Given the description of an element on the screen output the (x, y) to click on. 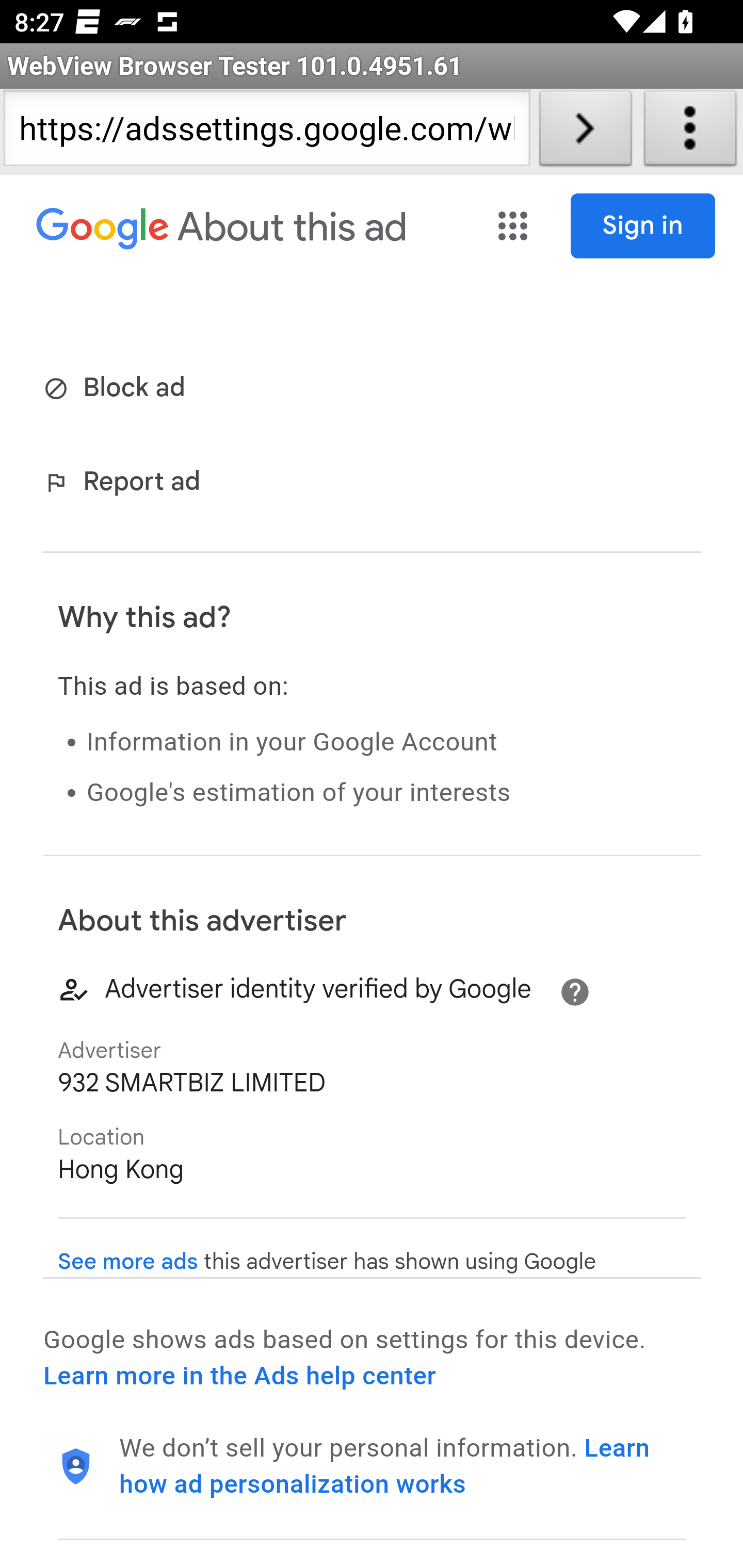
https://adssettings.google.com/whythisad (266, 132)
Load URL (585, 132)
About WebView (690, 132)
Google apps (513, 226)
Sign in (643, 226)
Block ad (117, 388)
Report ad (opens in new tab) Report ad (126, 483)
See more ads (opens in new tab) See more ads (127, 1262)
Learn more in the Ads help center (239, 1375)
Learn how ad personalization works (384, 1465)
